Given the description of an element on the screen output the (x, y) to click on. 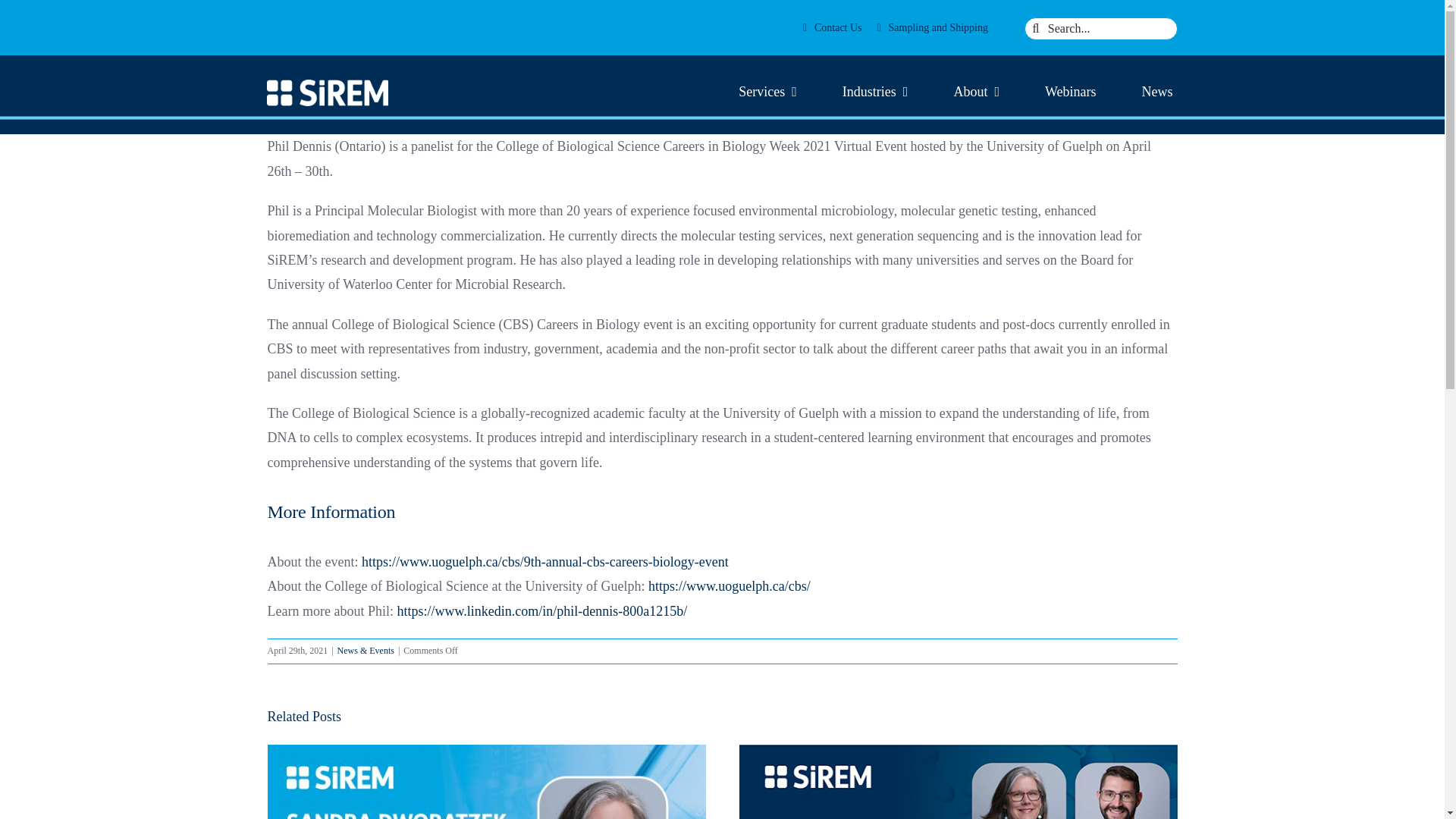
Services (767, 92)
Contact Us (832, 27)
Sampling and Shipping (932, 27)
